Given the description of an element on the screen output the (x, y) to click on. 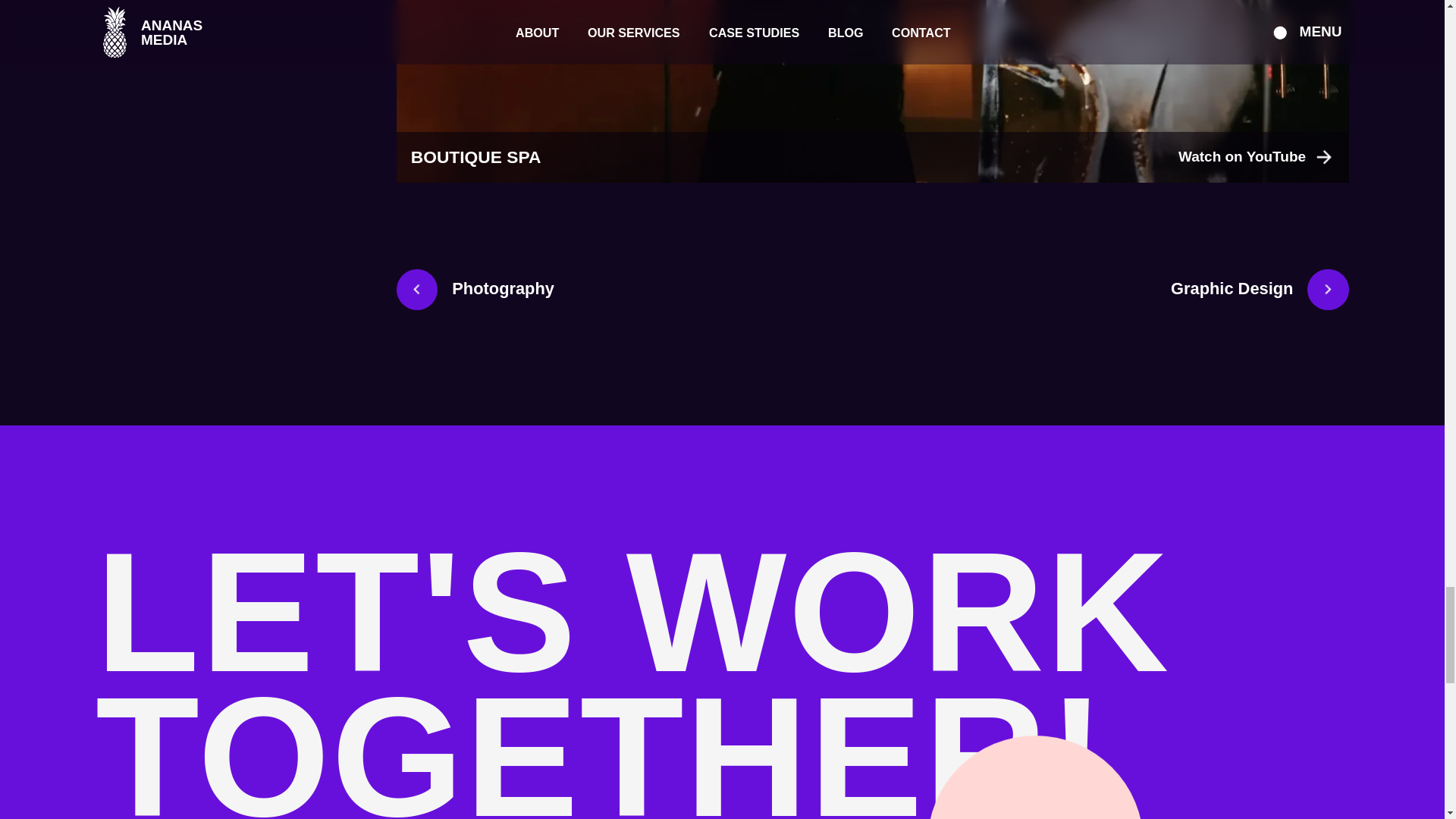
Graphic Design (1259, 290)
Photography (475, 290)
